Given the description of an element on the screen output the (x, y) to click on. 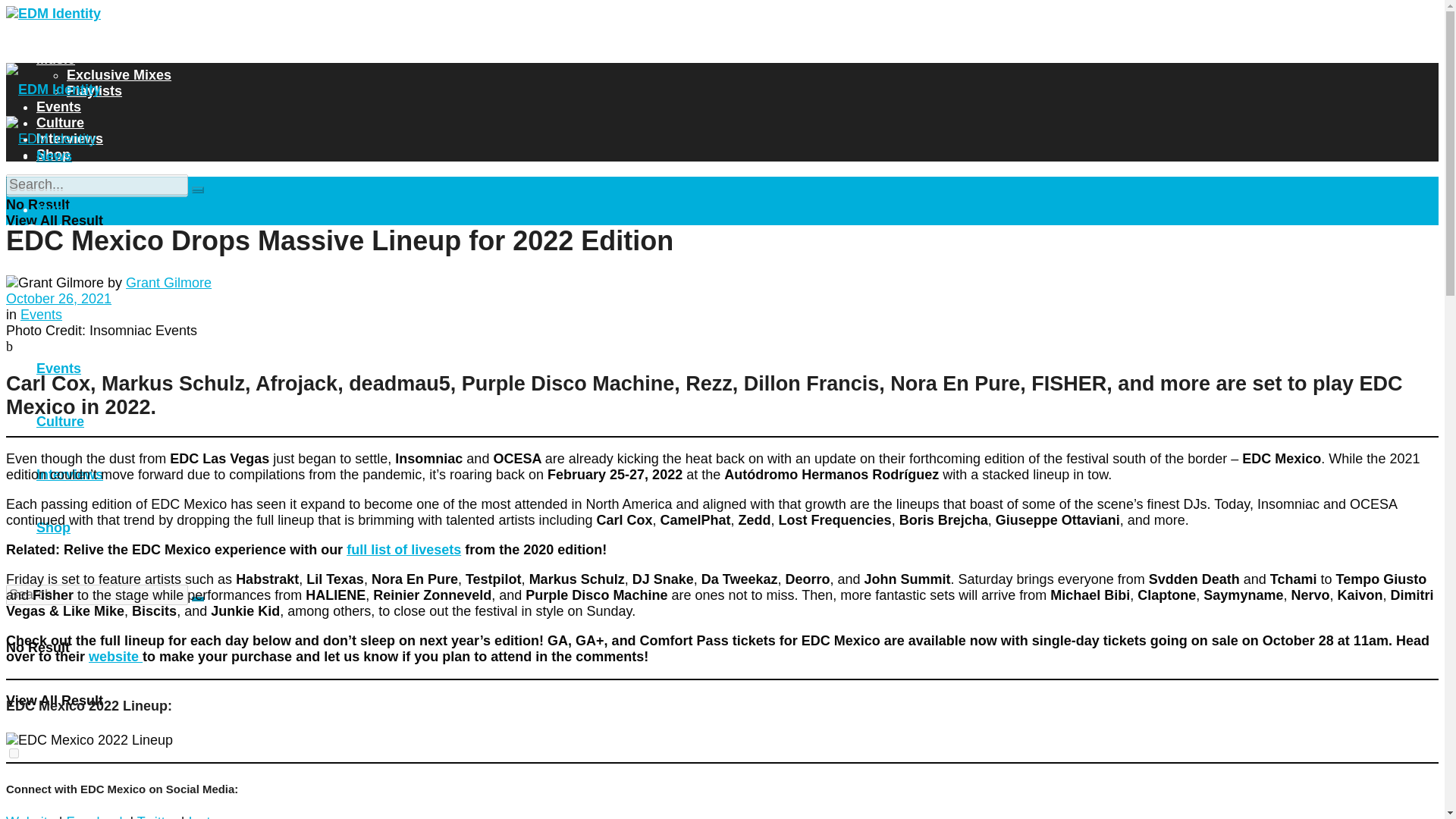
Facebook (95, 816)
full list of livesets (403, 549)
Exclusive Mixes (118, 74)
Exclusive Mixes (118, 262)
Grant Gilmore (168, 282)
Music (55, 209)
Shop (52, 154)
Interviews (69, 138)
website (115, 656)
on (13, 235)
